Given the description of an element on the screen output the (x, y) to click on. 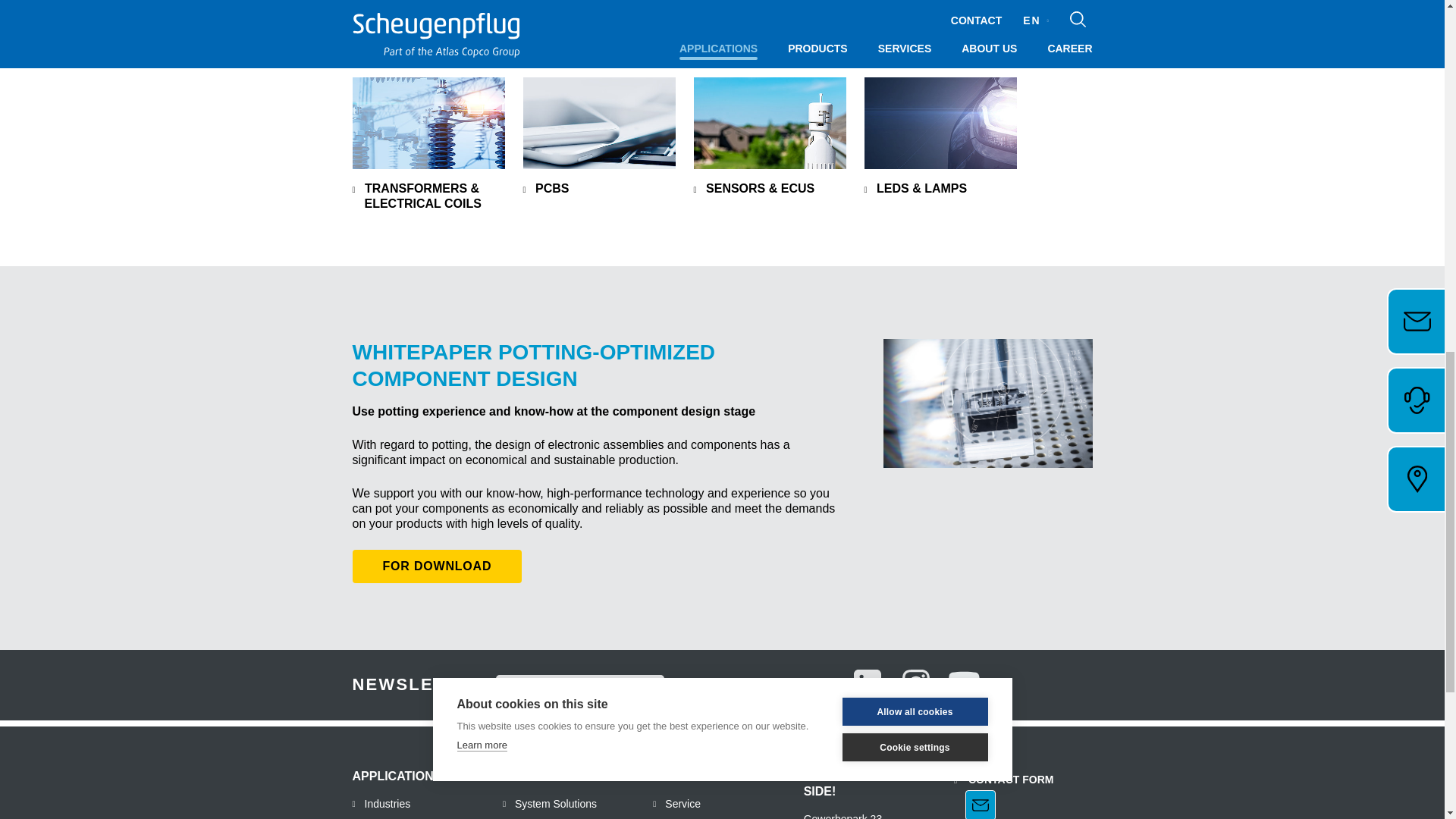
LinkedIn (866, 685)
YouTube (964, 685)
Contact Form (1002, 794)
Instagram (916, 685)
